Given the description of an element on the screen output the (x, y) to click on. 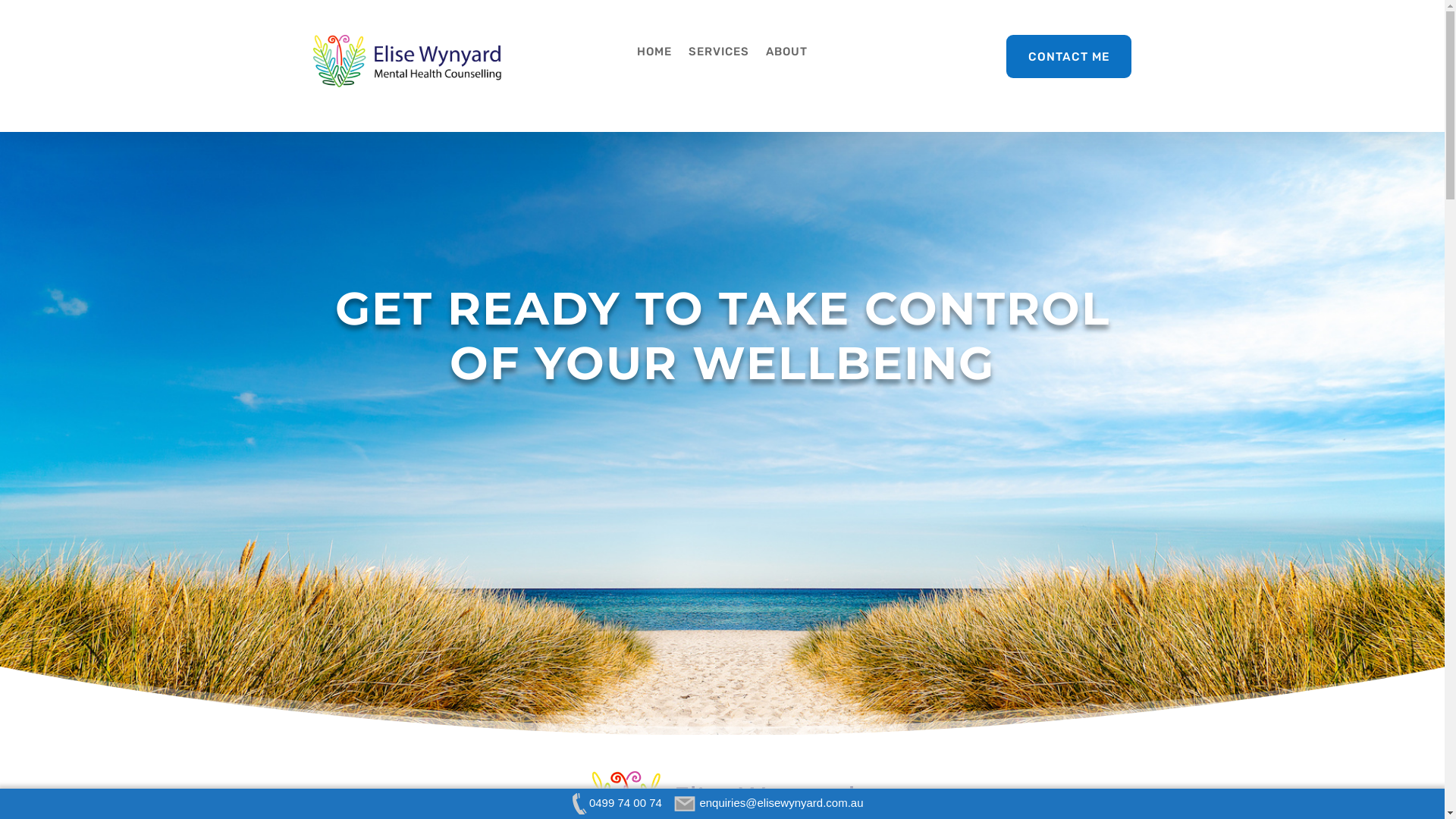
ABOUT Element type: text (786, 54)
HOME Element type: text (654, 54)
enquiries@elisewynyard.com.au Element type: text (769, 802)
0499 74 00 74 Element type: text (614, 802)
CONTACT ME Element type: text (1069, 56)
SERVICES Element type: text (718, 54)
